Given the description of an element on the screen output the (x, y) to click on. 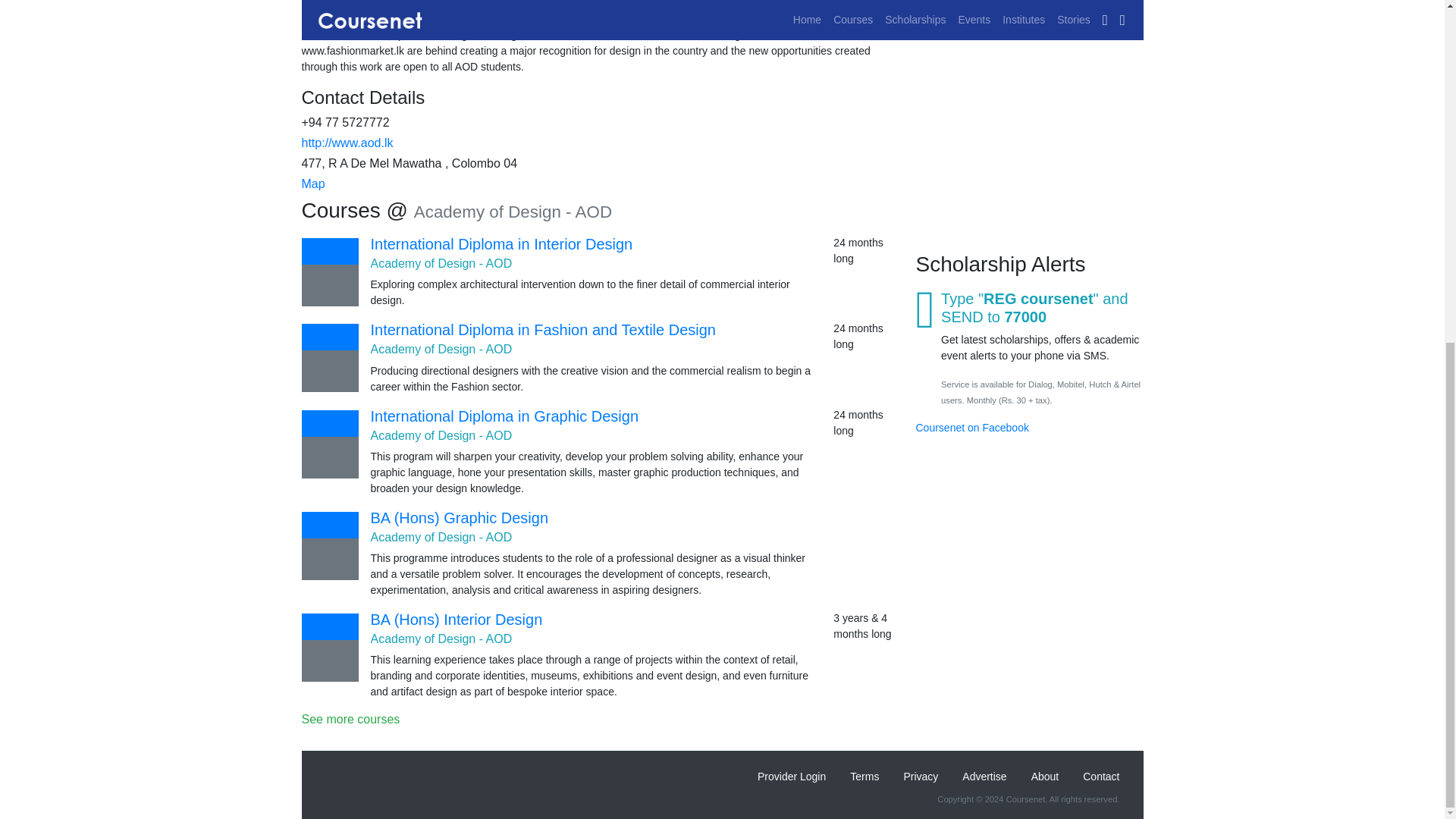
Academy of Design - AOD (440, 435)
International Diploma in Interior Design (500, 243)
Terms (864, 776)
International Diploma in Graphic Design (504, 416)
Academy of Design - AOD (440, 536)
Academy of Design - AOD (440, 349)
Privacy (920, 776)
Coursenet on Facebook (972, 4)
Contact (1100, 776)
Academy of Design - AOD (440, 638)
About (1045, 776)
Map (312, 183)
Academy of Design - AOD (440, 263)
See more courses (602, 718)
International Diploma in Fashion and Textile Design (541, 329)
